Given the description of an element on the screen output the (x, y) to click on. 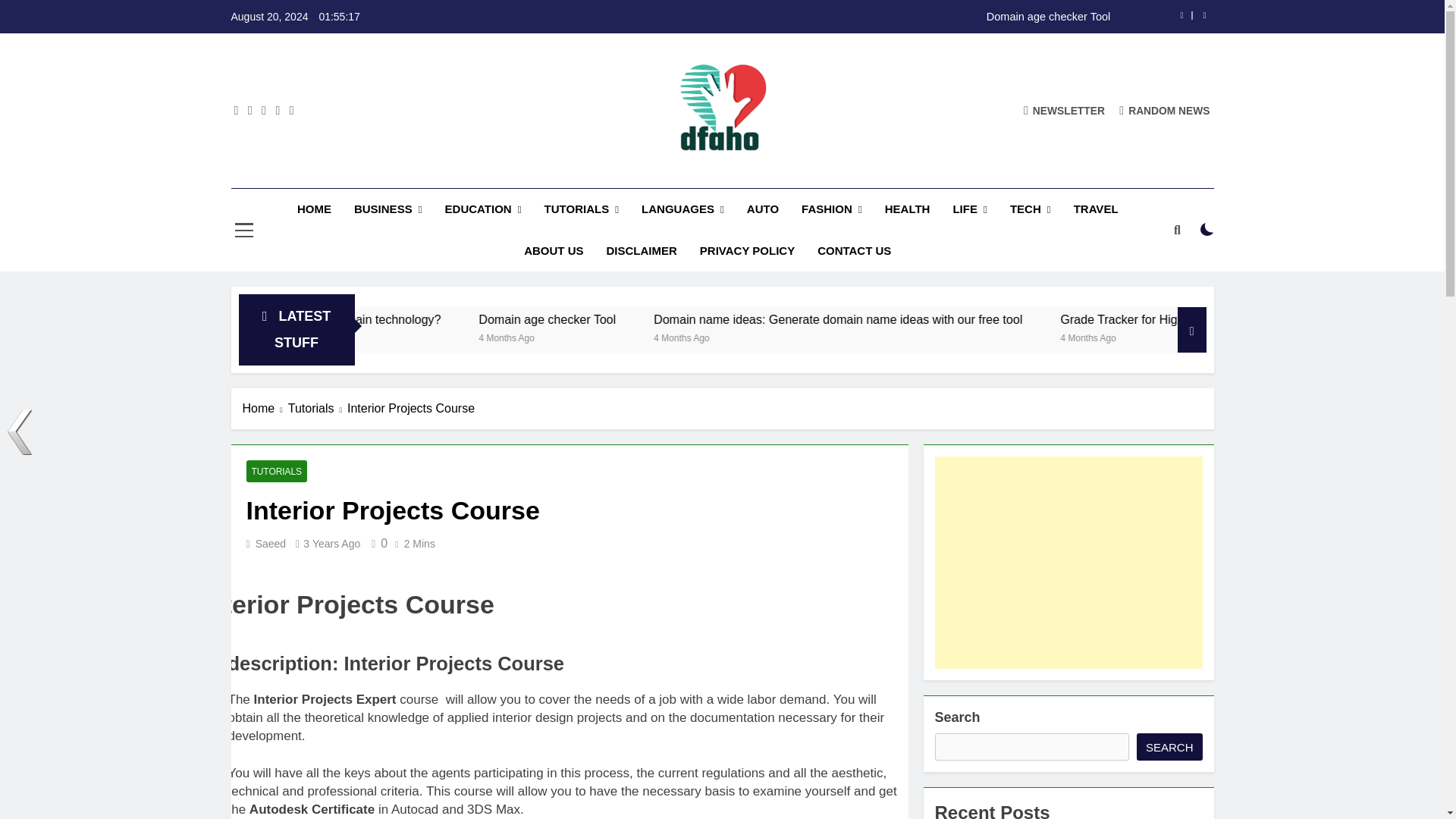
TUTORIALS (581, 209)
Domain age checker Tool (817, 16)
Domain age checker Tool (817, 16)
EDUCATION (482, 209)
BUSINESS (387, 209)
NEWSLETTER (1064, 110)
HOME (313, 209)
Domain age checker Tool (702, 319)
on (1206, 229)
Dfahos (531, 174)
